Given the description of an element on the screen output the (x, y) to click on. 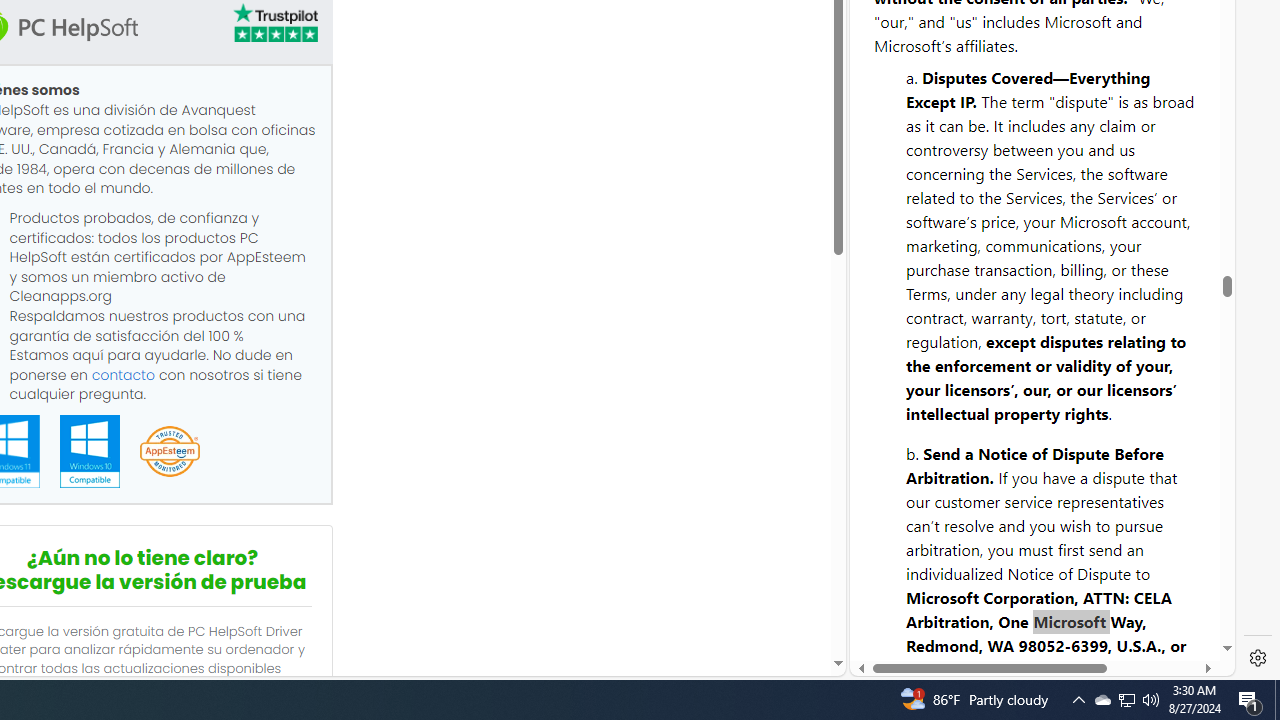
contacto (123, 374)
TrustPilot (274, 22)
Windows 10 Compatible (89, 451)
TrustPilot (274, 25)
App Esteem (169, 452)
App Esteem (169, 452)
